Given the description of an element on the screen output the (x, y) to click on. 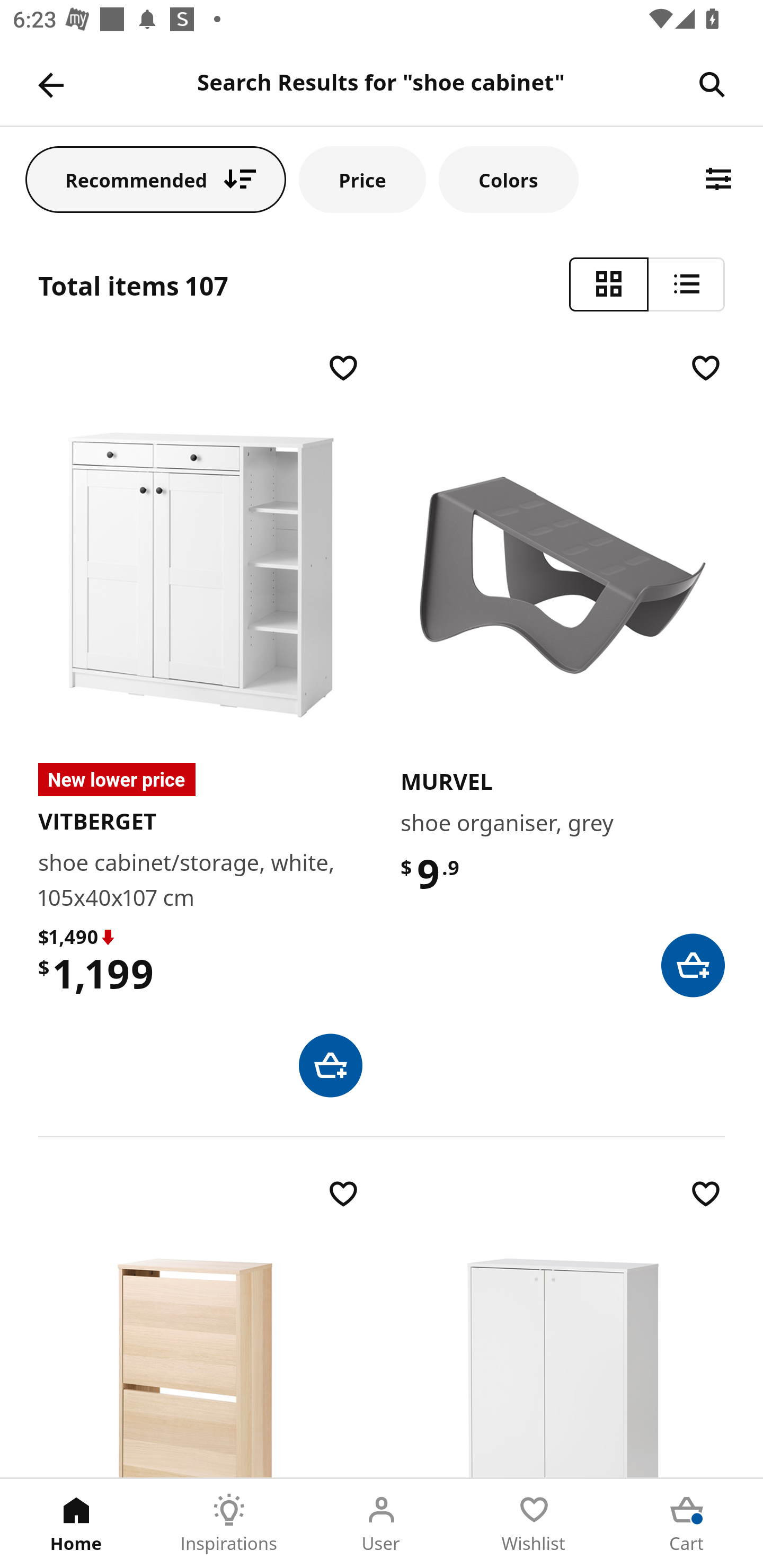
Recommended (155, 179)
Price (362, 179)
Colors (508, 179)
​M​U​R​V​E​L​
shoe organiser, grey
$
9
.9 (562, 673)
Home
Tab 1 of 5 (76, 1522)
Inspirations
Tab 2 of 5 (228, 1522)
User
Tab 3 of 5 (381, 1522)
Wishlist
Tab 4 of 5 (533, 1522)
Cart
Tab 5 of 5 (686, 1522)
